Given the description of an element on the screen output the (x, y) to click on. 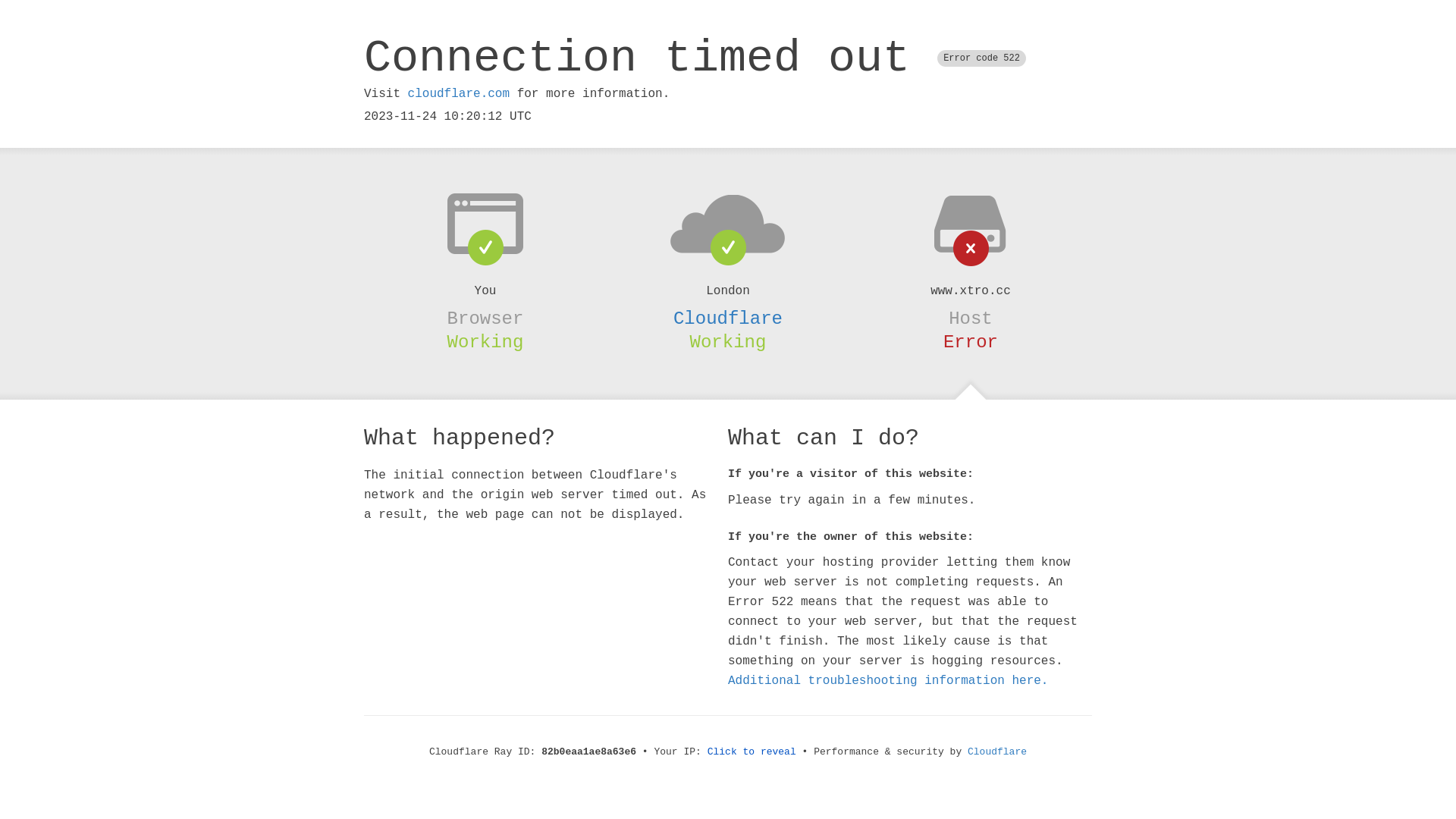
Cloudflare Element type: text (996, 751)
Additional troubleshooting information here. Element type: text (888, 680)
cloudflare.com Element type: text (458, 93)
Click to reveal Element type: text (751, 751)
Cloudflare Element type: text (727, 318)
